Given the description of an element on the screen output the (x, y) to click on. 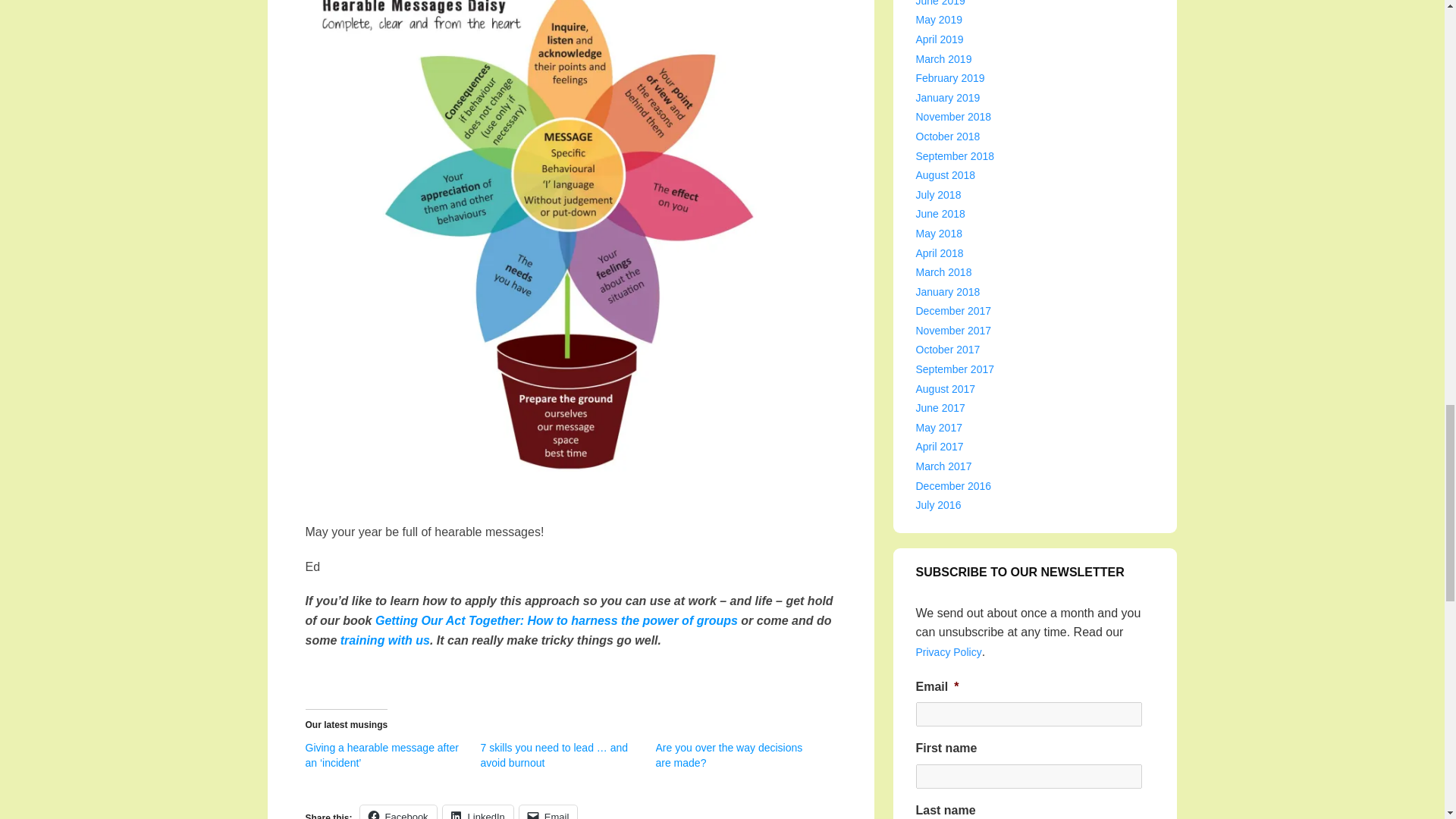
training with us (384, 640)
Facebook (397, 812)
Are you over the way decisions are made? (728, 755)
Are you over the way decisions are made? (728, 755)
Getting Our Act Together: How to harness the power of groups (556, 620)
Click to share on LinkedIn (477, 812)
Click to email a link to a friend (548, 812)
Click to share on Facebook (397, 812)
